Given the description of an element on the screen output the (x, y) to click on. 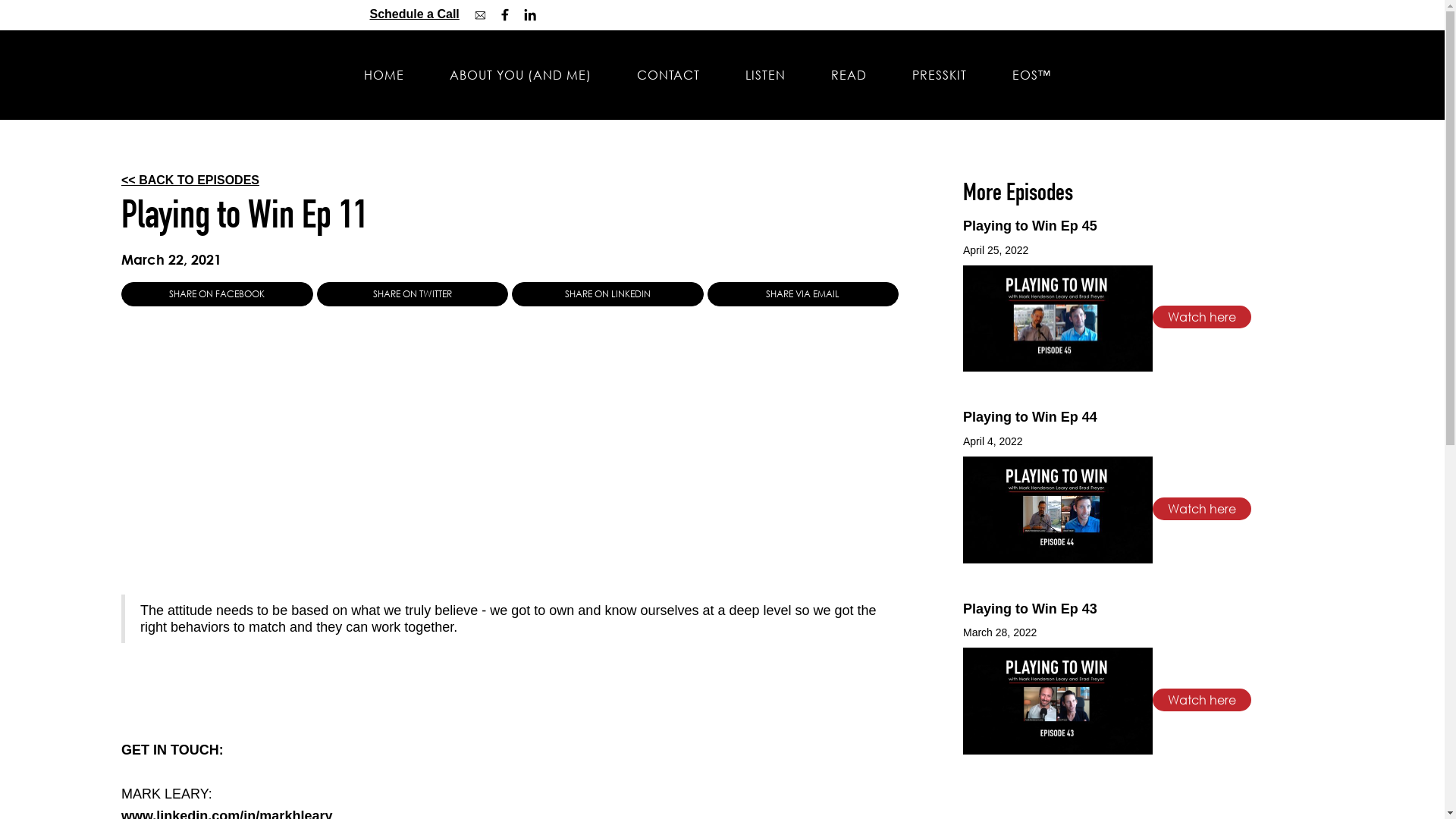
PRESSKIT Element type: text (938, 74)
SHARE ON FACEBOOK Element type: text (216, 293)
SHARE VIA EMAIL Element type: text (802, 293)
ABOUT YOU (AND ME) Element type: text (519, 74)
CONTACT Element type: text (668, 74)
<< BACK TO EPISODES Element type: text (190, 179)
Watch here Element type: text (1201, 508)
Watch here Element type: text (1201, 699)
Watch here Element type: text (1201, 316)
Schedule a Call Element type: text (414, 13)
LISTEN Element type: text (764, 74)
READ Element type: text (848, 74)
YouTube video player Element type: hover (333, 440)
SHARE ON TWITTER Element type: text (412, 293)
SHARE ON LINKEDIN Element type: text (607, 293)
HOME Element type: text (383, 74)
